Given the description of an element on the screen output the (x, y) to click on. 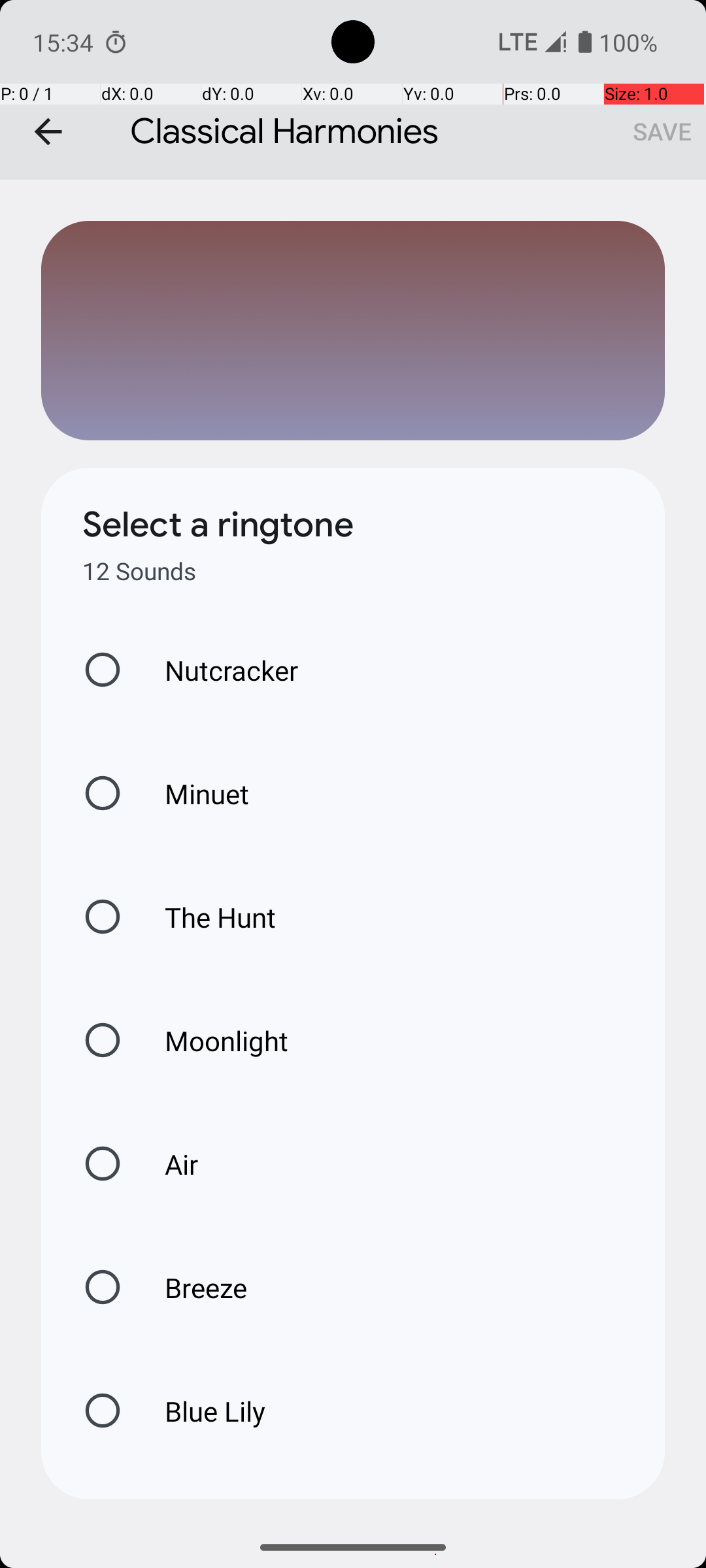
Classical Harmonies Element type: android.widget.FrameLayout (353, 89)
Select a ringtone Element type: android.widget.TextView (217, 524)
12 Sounds Element type: android.widget.TextView (139, 570)
Nutcracker Element type: android.widget.TextView (217, 669)
Minuet Element type: android.widget.TextView (193, 793)
The Hunt Element type: android.widget.TextView (206, 916)
Moonlight Element type: android.widget.TextView (212, 1040)
Air Element type: android.widget.TextView (167, 1163)
Breeze Element type: android.widget.TextView (192, 1287)
Blue Lily Element type: android.widget.TextView (201, 1410)
